Given the description of an element on the screen output the (x, y) to click on. 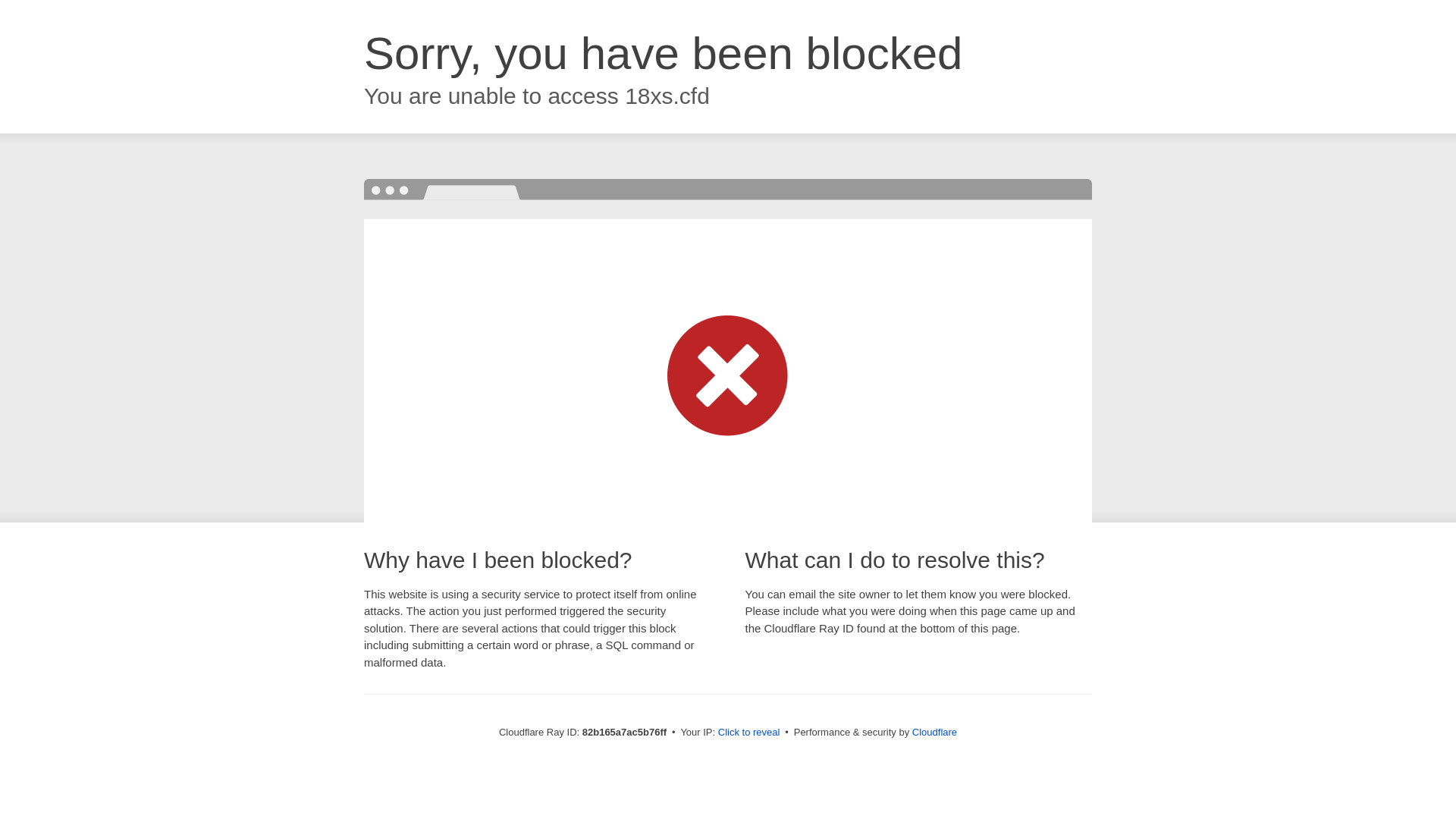
Click to reveal Element type: text (749, 732)
Cloudflare Element type: text (934, 731)
